Given the description of an element on the screen output the (x, y) to click on. 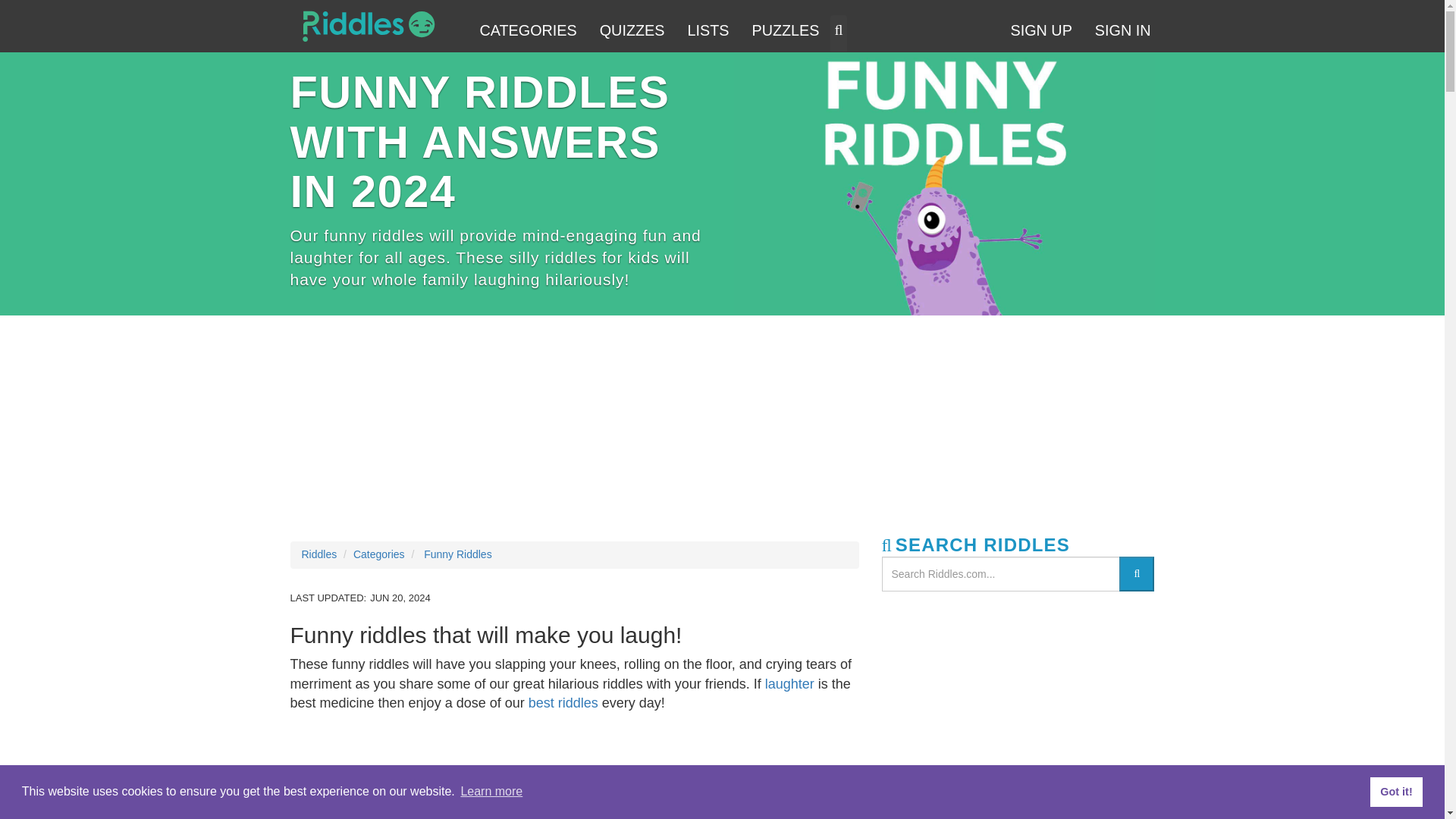
LISTS (707, 32)
Categories (378, 553)
PUZZLES (784, 32)
best riddles (563, 702)
SIGN IN (1122, 32)
Funny Riddles (943, 183)
Funny Riddles (457, 553)
Learn more (491, 791)
laughter (789, 683)
QUIZZES (632, 32)
SIGN UP (1040, 32)
Funny Riddles (574, 770)
Riddles (319, 553)
Riddles (368, 25)
Got it! (1396, 791)
